Given the description of an element on the screen output the (x, y) to click on. 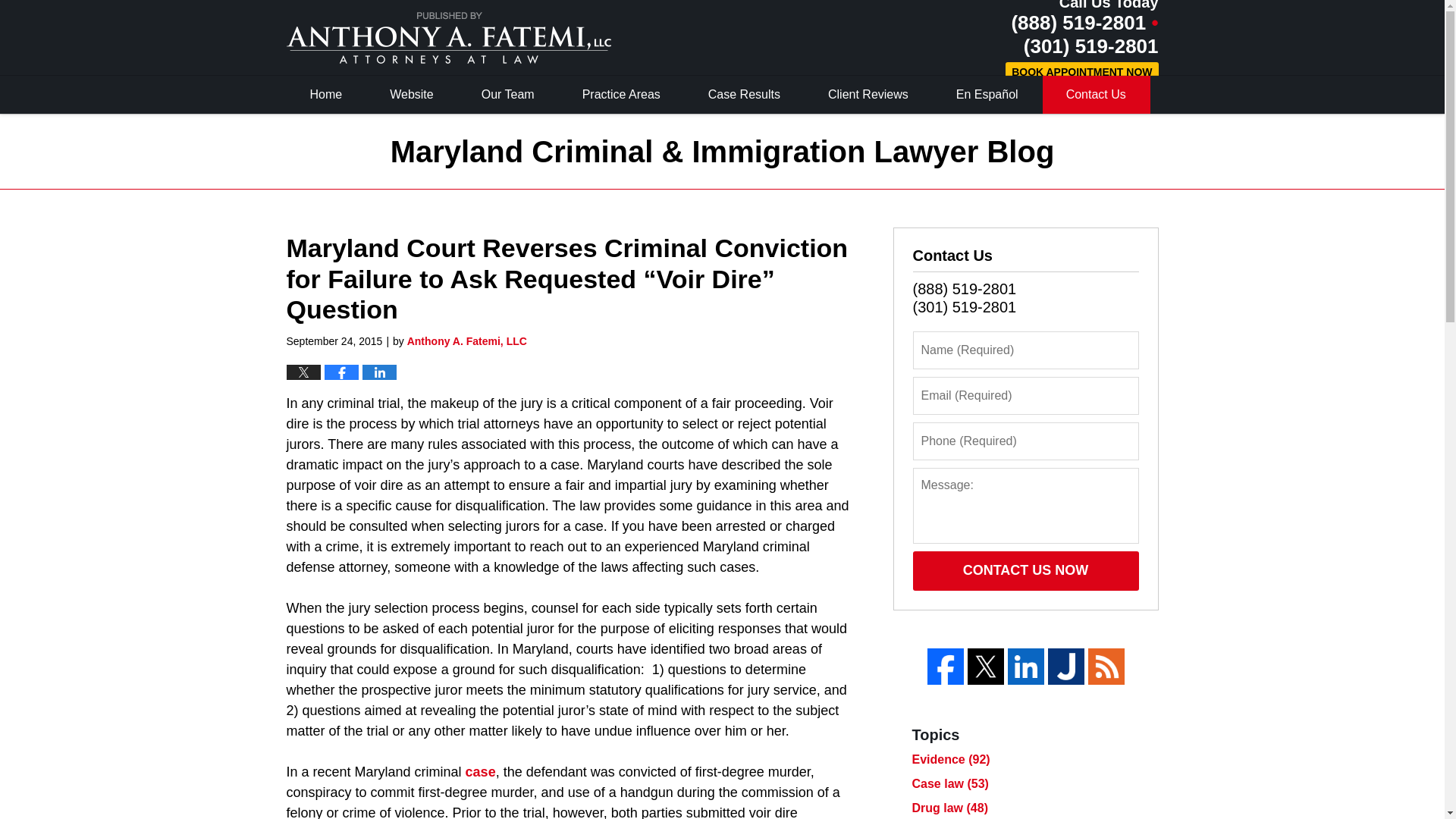
Home (326, 94)
LinkedIn (1025, 666)
Feed (1105, 666)
Anthony A. Fatemi, LLC (467, 340)
Website (412, 94)
case (480, 771)
BOOK APPOINTMENT NOW (1081, 72)
Contact Us (1096, 94)
Please enter a valid phone number. (1025, 441)
Practice Areas (621, 94)
Facebook (944, 666)
CONTACT US NOW (1025, 570)
Justia (1066, 666)
Our Team (508, 94)
Twitter (986, 666)
